Given the description of an element on the screen output the (x, y) to click on. 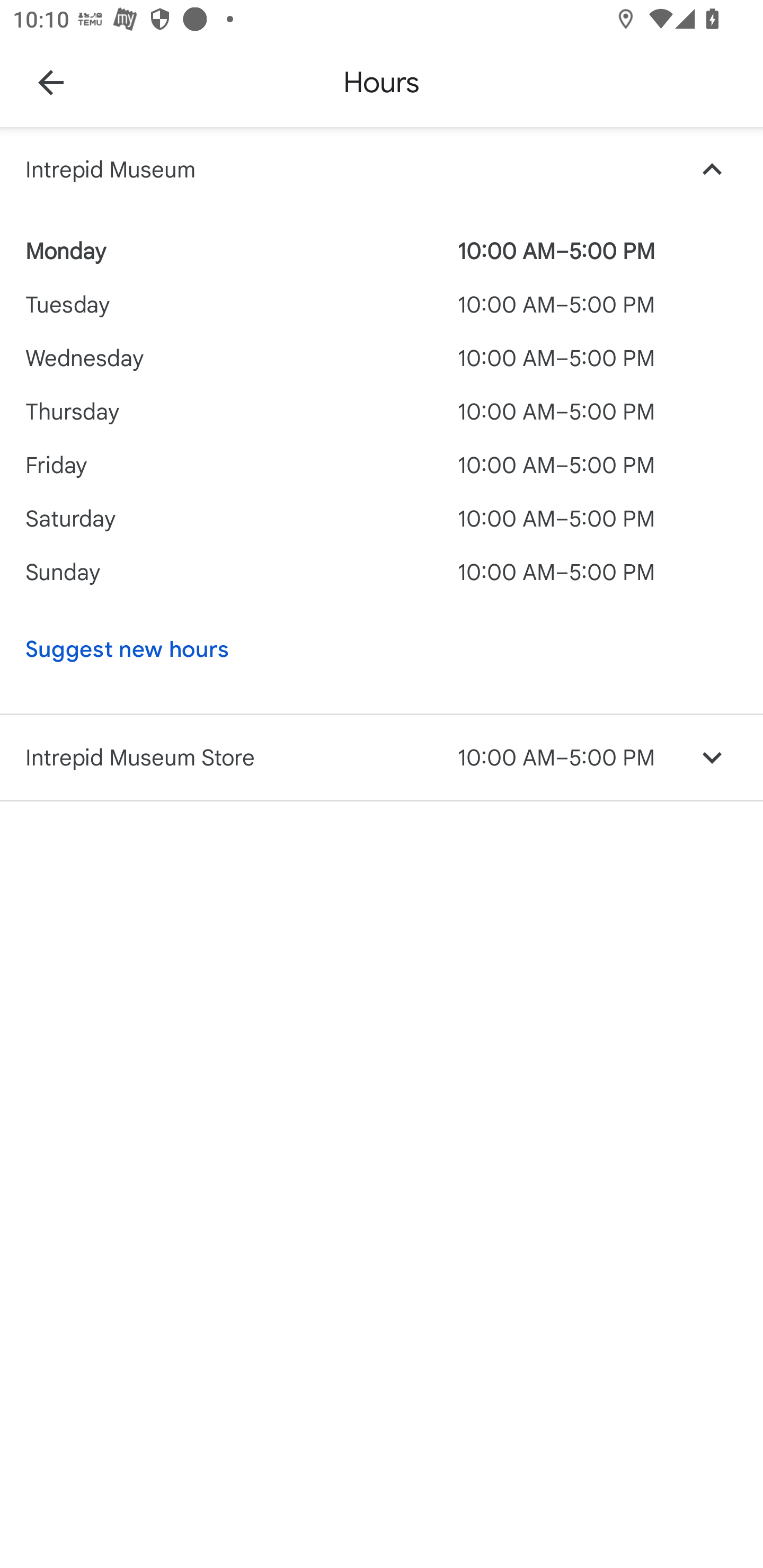
Navigate up (50, 81)
Suggest new hours (349, 649)
Intrepid Museum Store 10:00 AM–5:00 PM (381, 758)
